Given the description of an element on the screen output the (x, y) to click on. 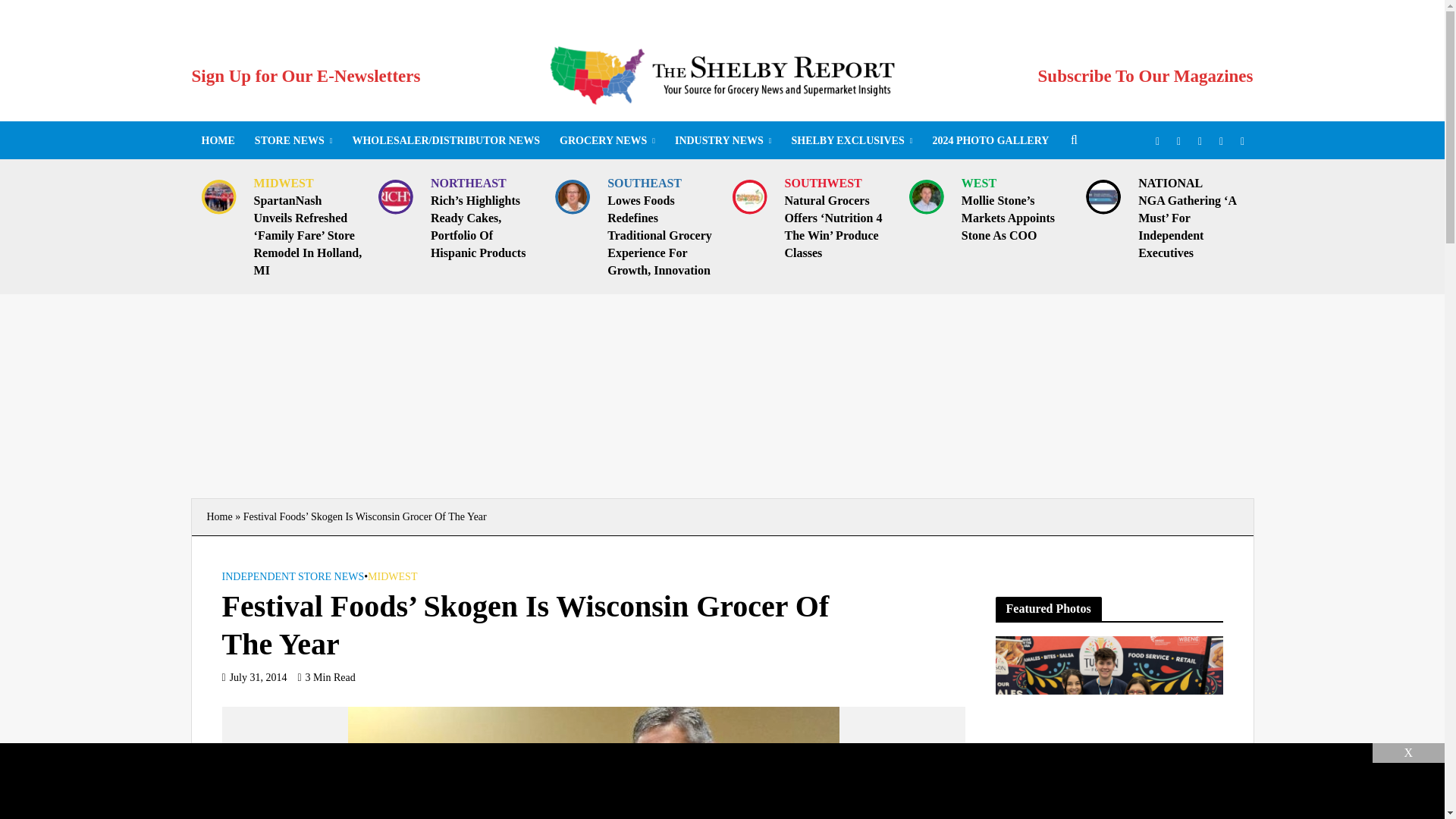
SHELBY EXCLUSIVES (850, 140)
HOME (217, 140)
INDUSTRY NEWS (723, 140)
GROCERY NEWS (607, 140)
STORE NEWS (293, 140)
Sign Up for Our E-Newsletters (305, 76)
Subscribe To Our Magazines (1145, 76)
